Given the description of an element on the screen output the (x, y) to click on. 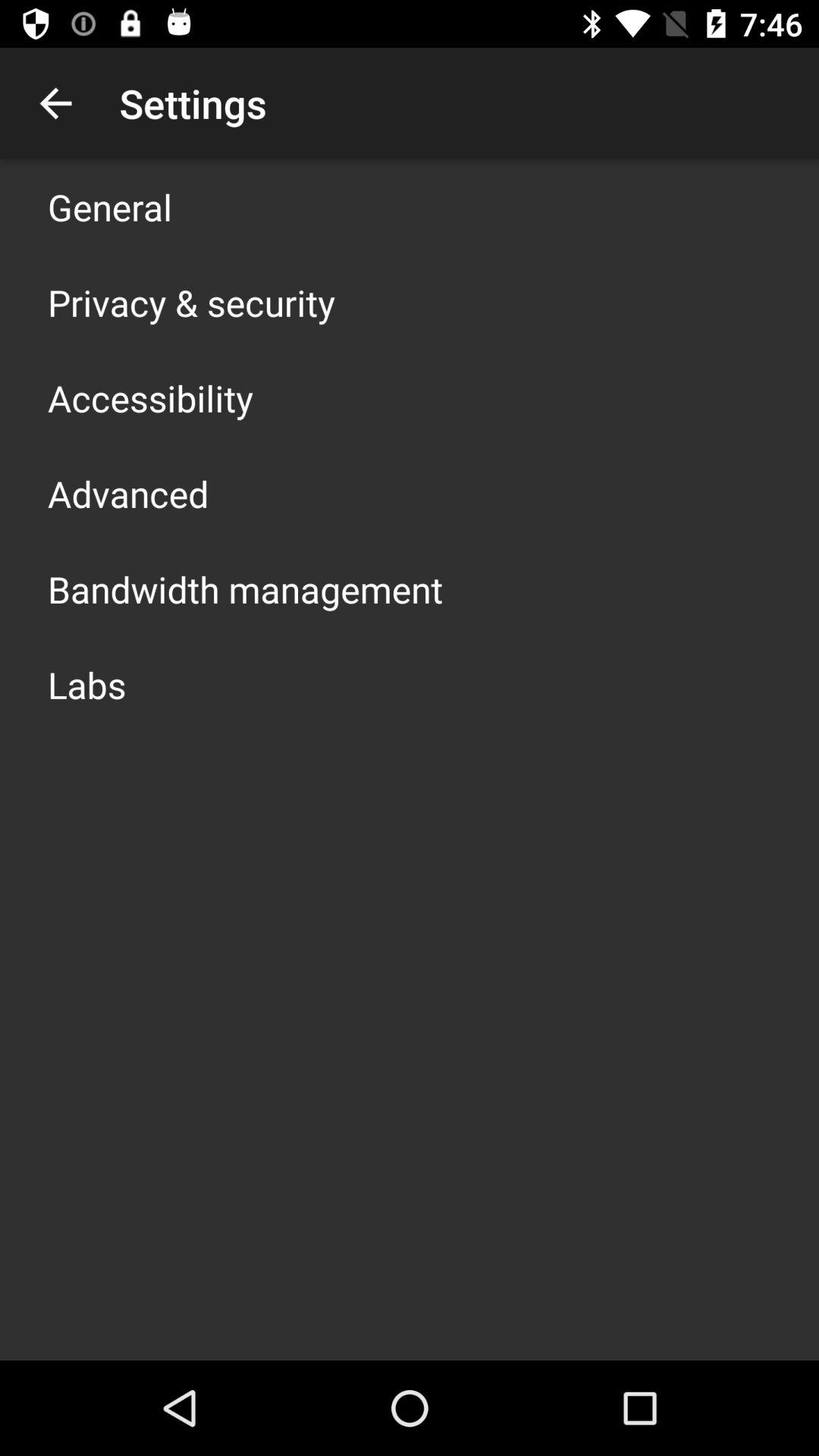
swipe until the privacy & security item (190, 302)
